Given the description of an element on the screen output the (x, y) to click on. 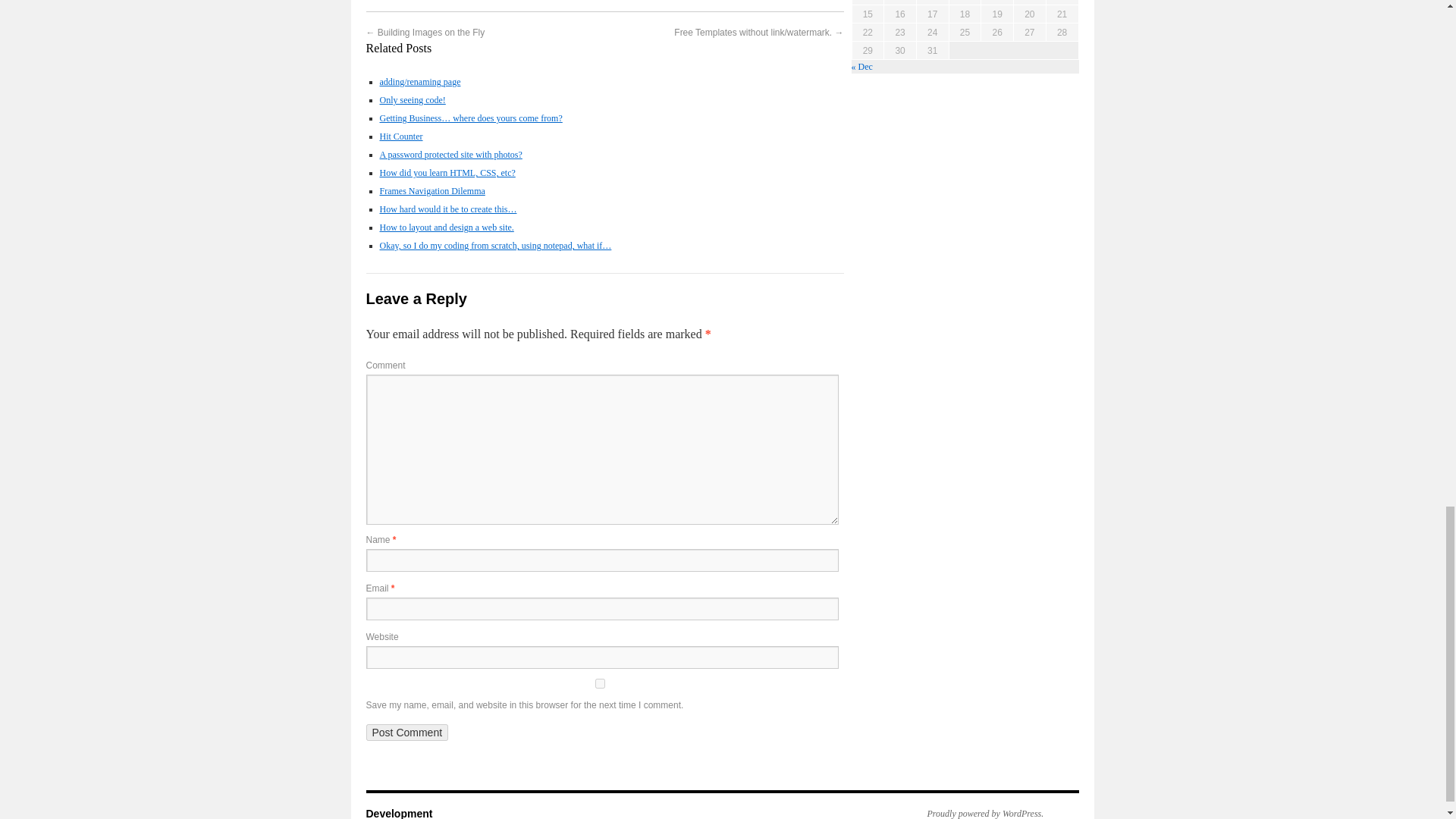
yes (598, 683)
How did you learn HTML, CSS, etc? (446, 172)
How did you learn HTML, CSS, etc?  (446, 172)
A password protected site with photos?  (449, 154)
Only seeing code! (411, 100)
A password protected site with photos? (449, 154)
Post Comment (406, 732)
Only seeing code!  (411, 100)
How to layout and design a web site.  (445, 226)
Frames Navigation Dilemma  (431, 190)
Hit Counter (400, 136)
Hit Counter  (400, 136)
